Given the description of an element on the screen output the (x, y) to click on. 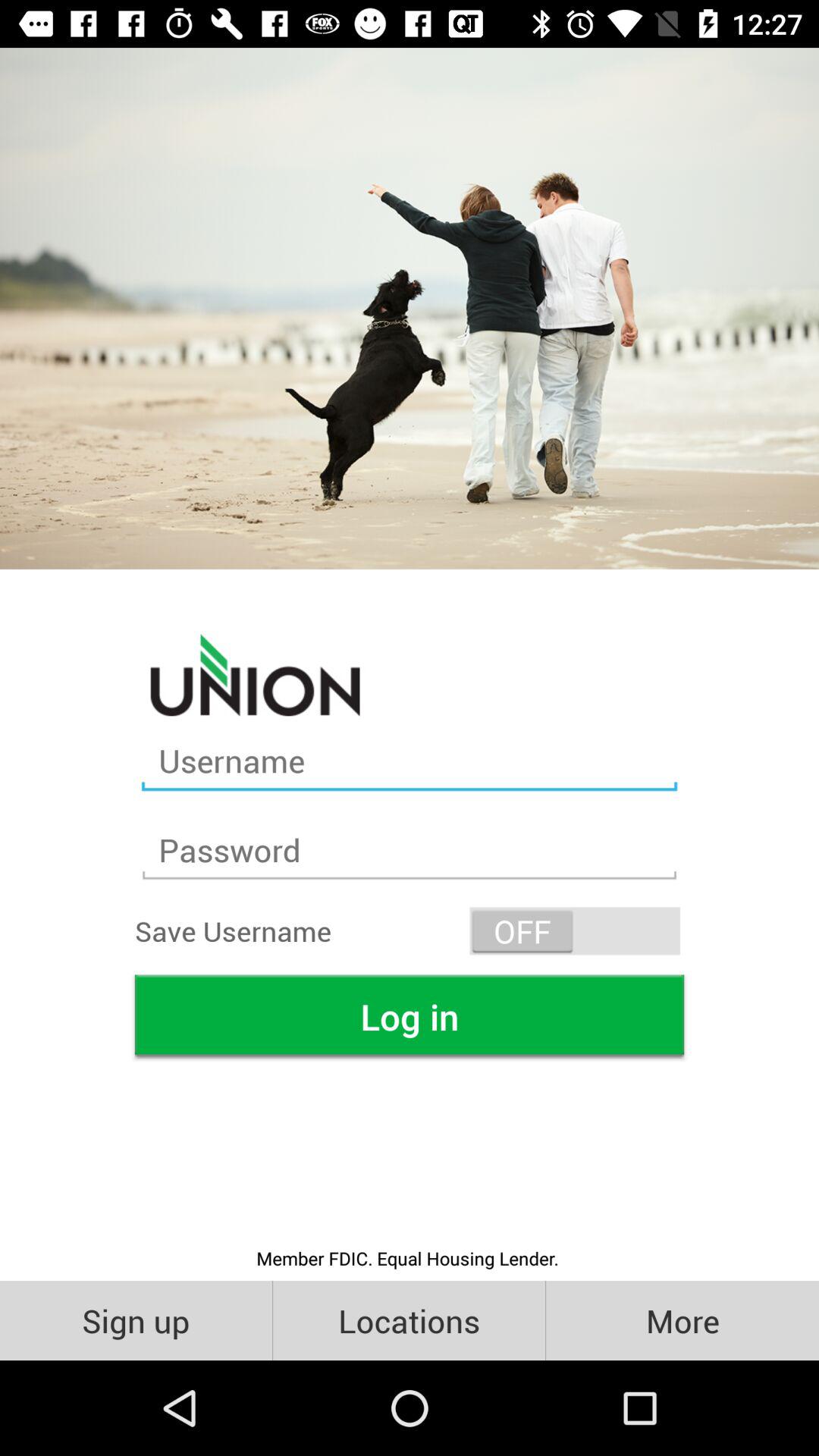
click the more item (682, 1320)
